Given the description of an element on the screen output the (x, y) to click on. 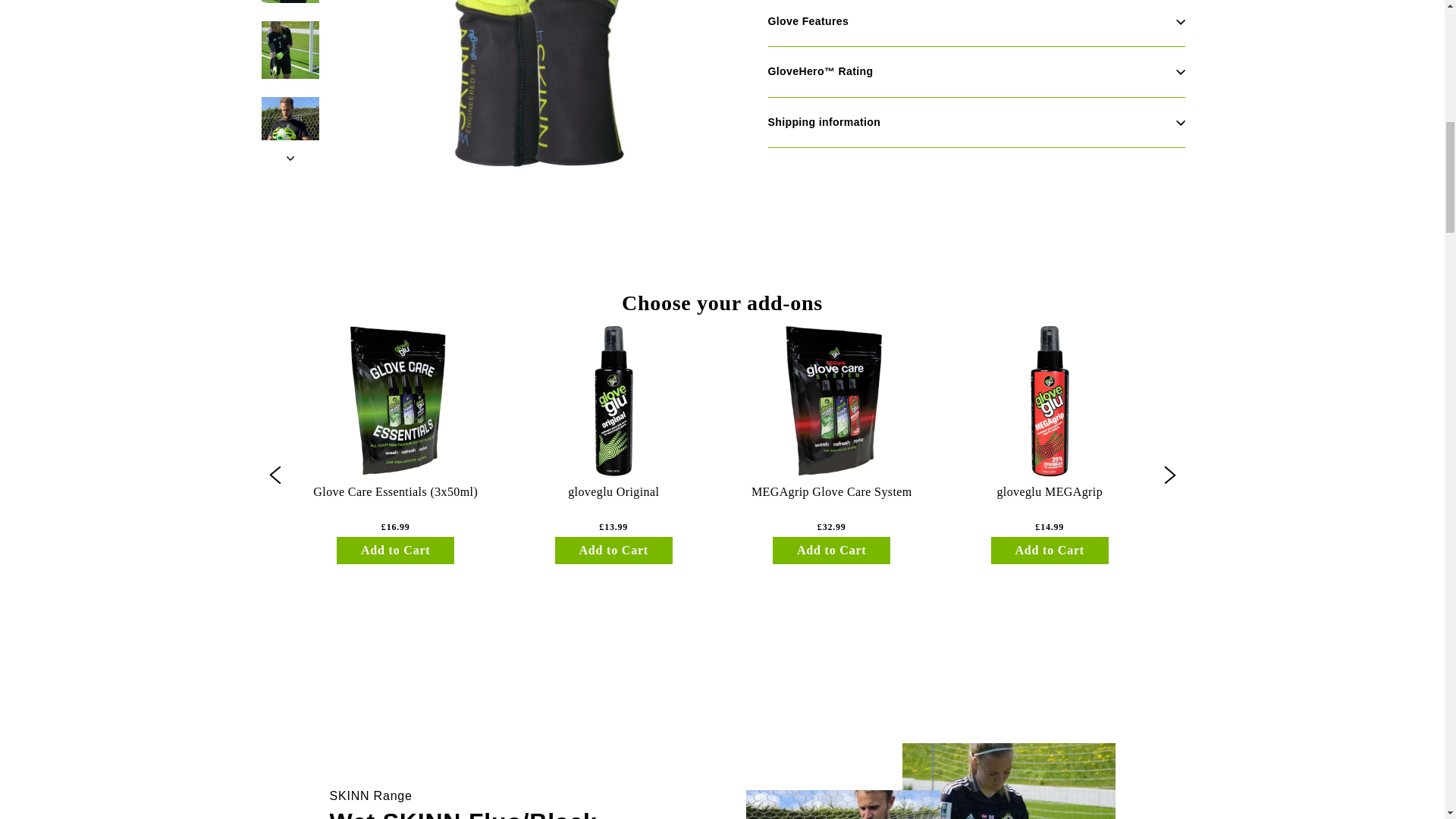
Add to Cart (395, 551)
Add to Cart (612, 551)
